Given the description of an element on the screen output the (x, y) to click on. 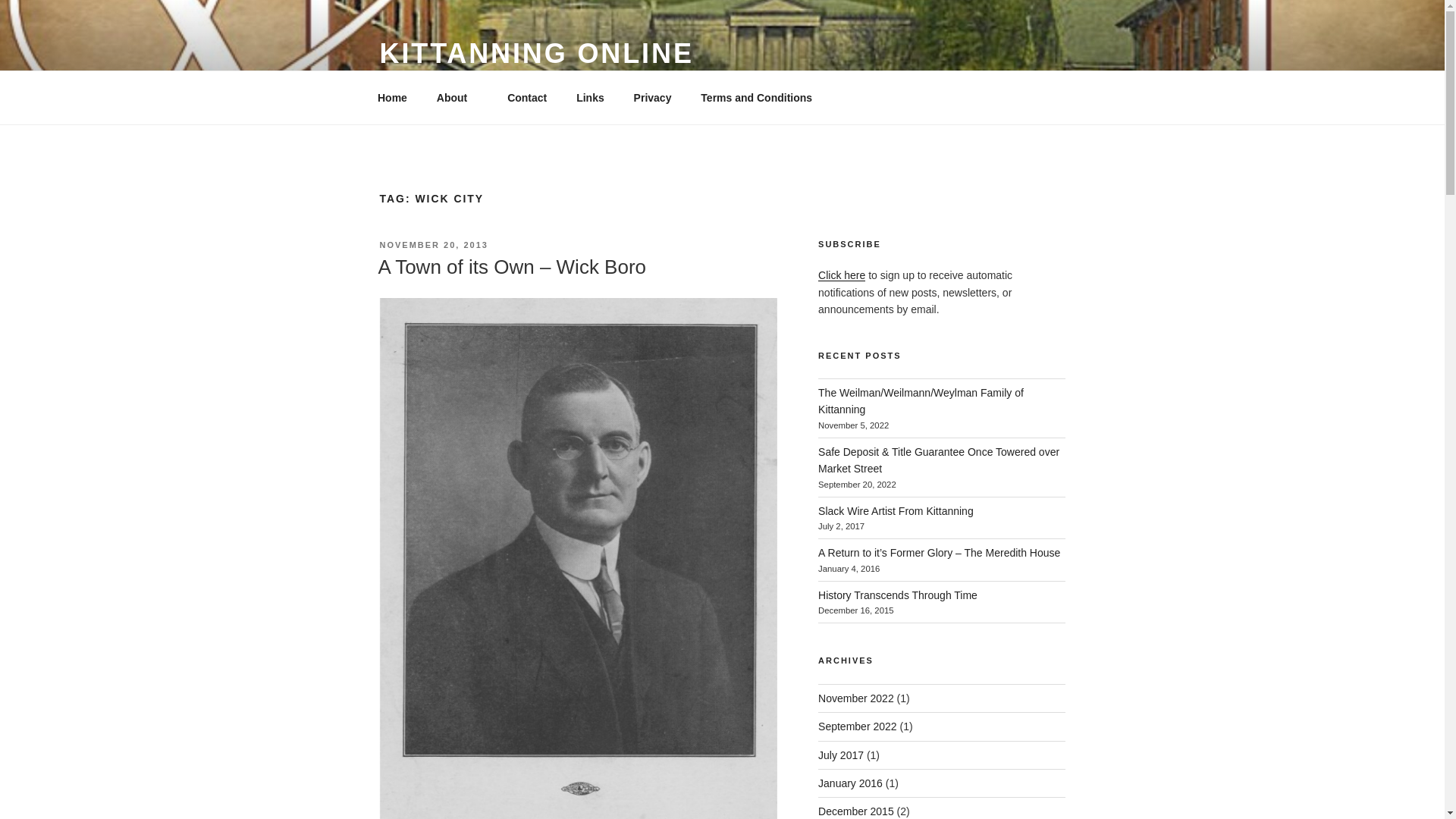
December 2015 (855, 811)
Home (392, 97)
Links (590, 97)
KITTANNING ONLINE (535, 52)
January 2016 (850, 783)
Slack Wire Artist From Kittanning (896, 510)
Click here (841, 275)
September 2022 (857, 726)
Contact (527, 97)
November 2022 (855, 698)
History Transcends Through Time (897, 594)
July 2017 (840, 755)
About (456, 97)
Terms and Conditions (756, 97)
Privacy (652, 97)
